Given the description of an element on the screen output the (x, y) to click on. 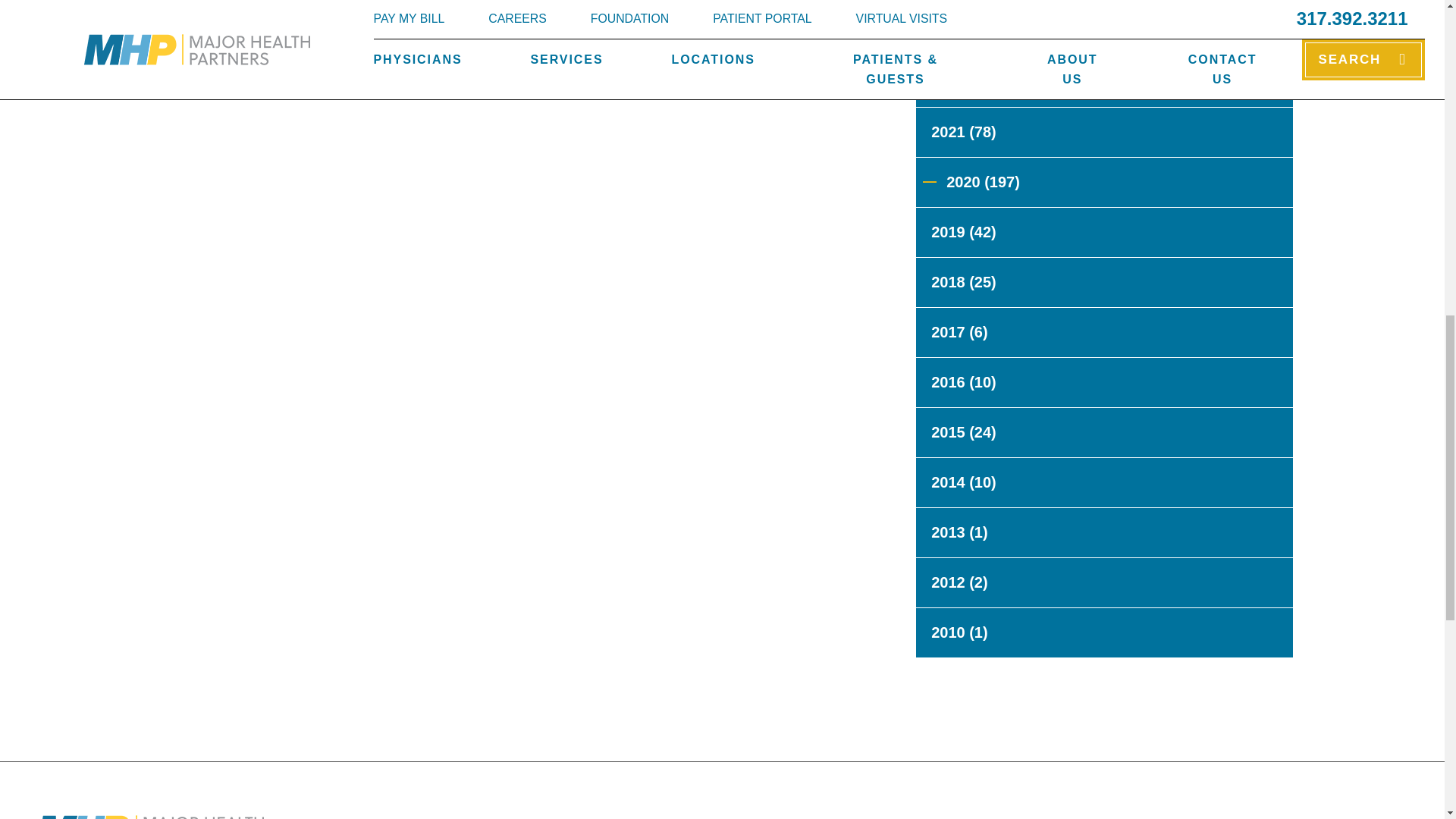
Major Health Partners (150, 816)
